Given the description of an element on the screen output the (x, y) to click on. 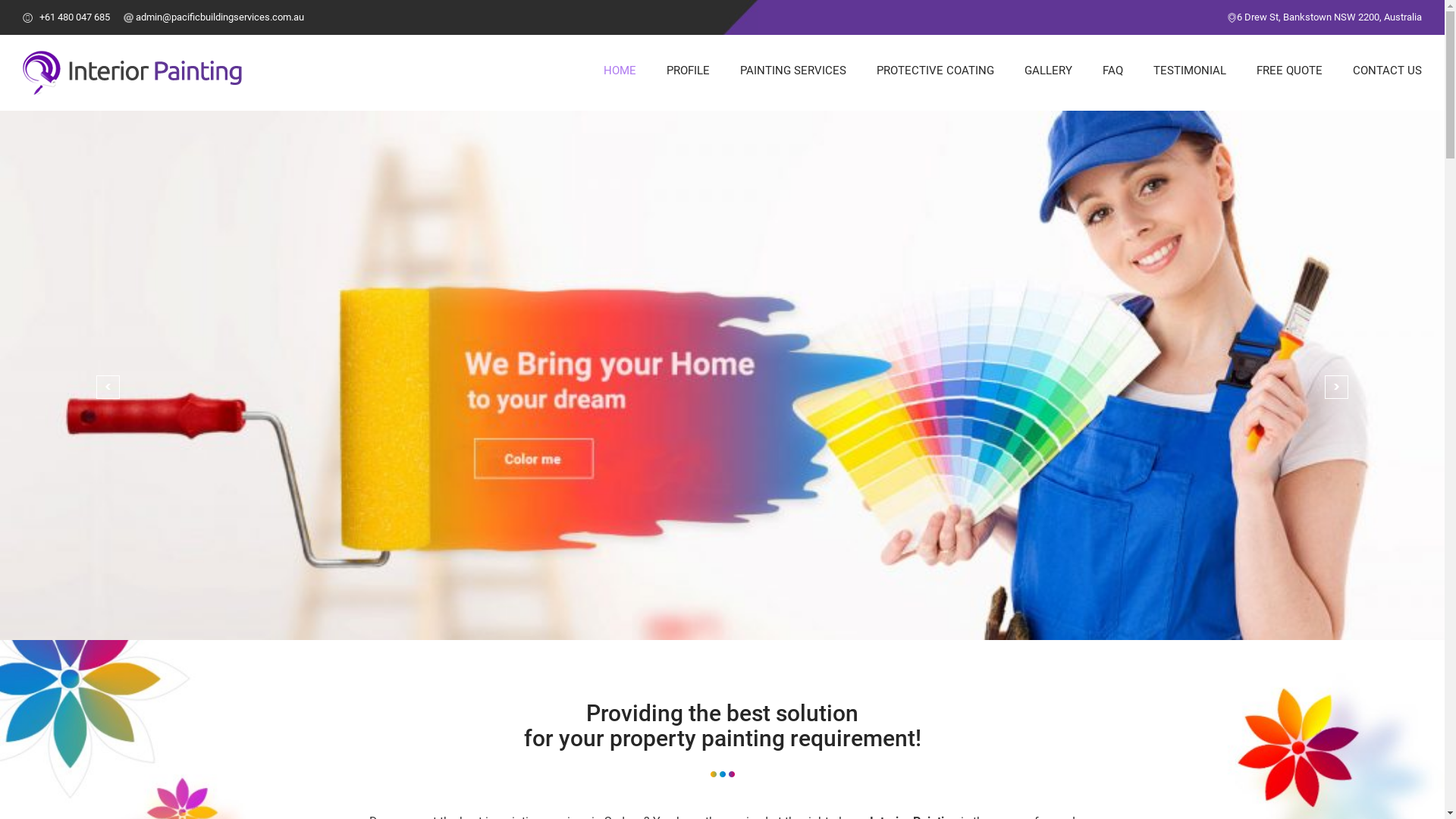
HOME Element type: text (619, 68)
FAQ Element type: text (1112, 68)
PROTECTIVE COATING Element type: text (935, 68)
PAINTING SERVICES Element type: text (793, 68)
Interior Painting Element type: hover (131, 72)
TESTIMONIAL Element type: text (1189, 68)
FREE QUOTE Element type: text (1289, 68)
Bring Your Homes to lively colors Element type: hover (722, 375)
PROFILE Element type: text (687, 68)
GALLERY Element type: text (1048, 68)
CONTACT US Element type: text (1386, 68)
